Given the description of an element on the screen output the (x, y) to click on. 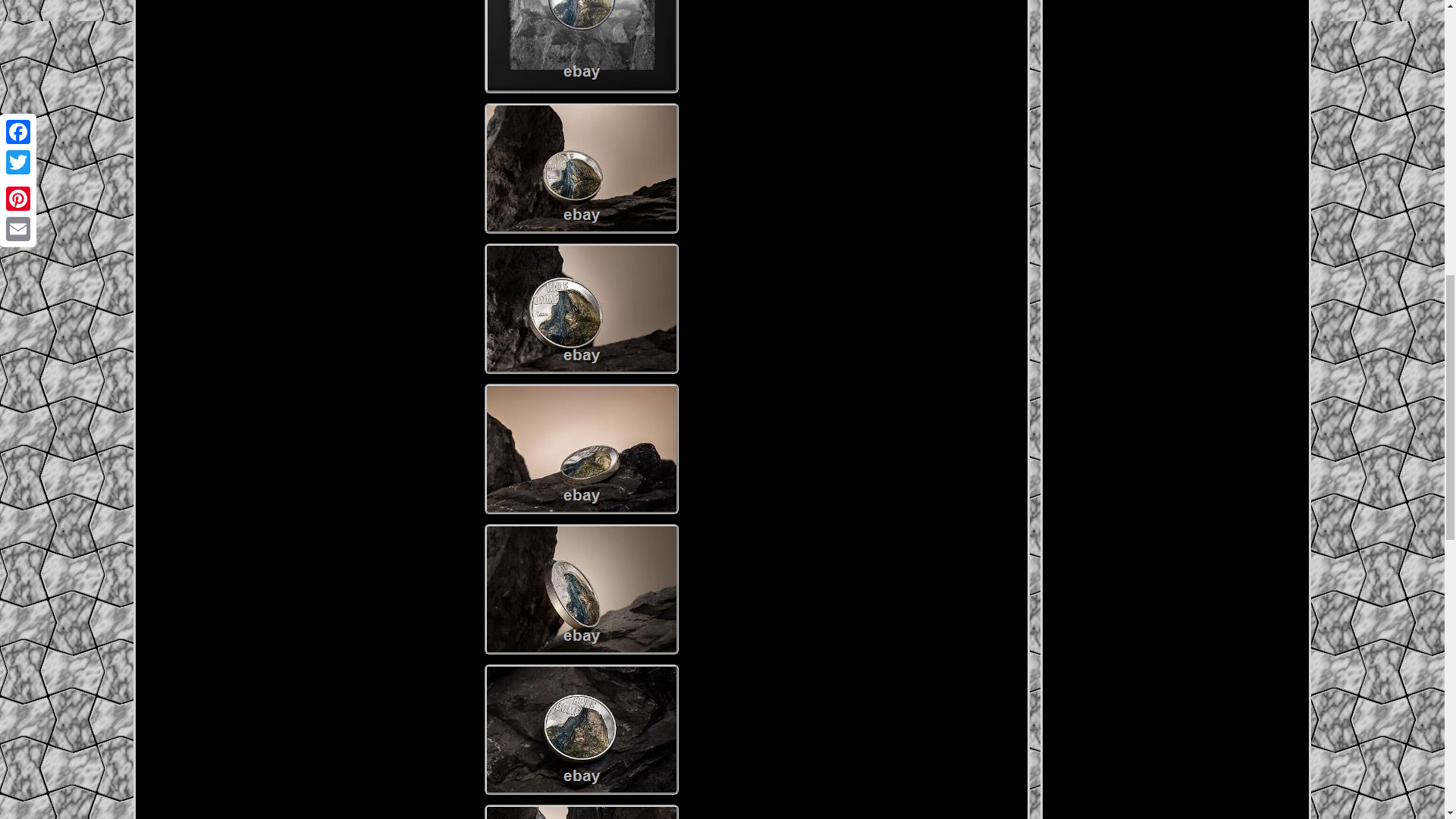
2023 Cook Islands Mountains Half Dome 2oz Silver Proof Coin (581, 589)
2023 Cook Islands Mountains Half Dome 2oz Silver Proof Coin (581, 308)
2023 Cook Islands Mountains Half Dome 2oz Silver Proof Coin (581, 729)
2023 Cook Islands Mountains Half Dome 2oz Silver Proof Coin (581, 168)
2023 Cook Islands Mountains Half Dome 2oz Silver Proof Coin (581, 811)
2023 Cook Islands Mountains Half Dome 2oz Silver Proof Coin (581, 449)
2023 Cook Islands Mountains Half Dome 2oz Silver Proof Coin (581, 46)
